Given the description of an element on the screen output the (x, y) to click on. 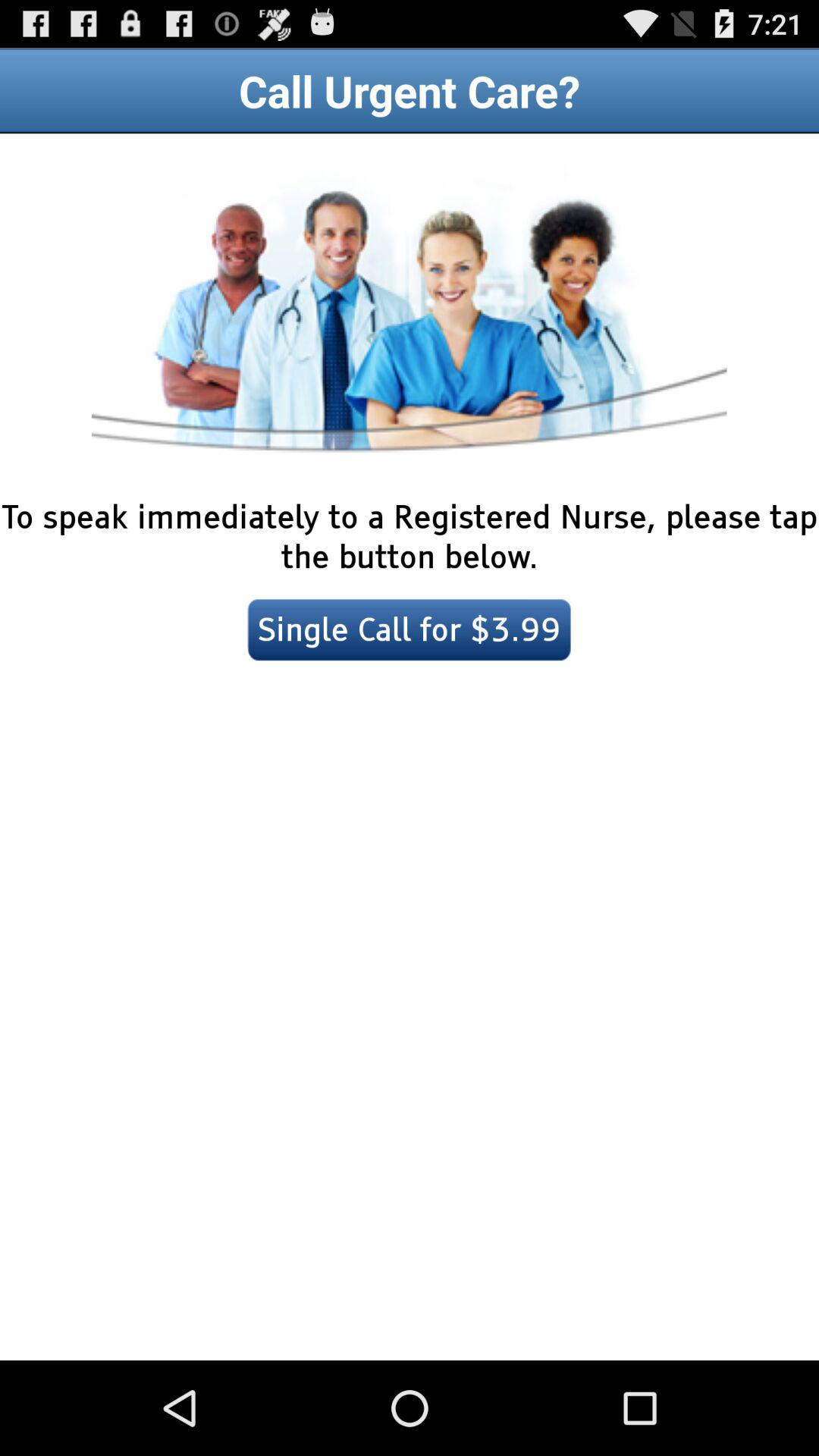
scroll to the single call for icon (409, 629)
